Given the description of an element on the screen output the (x, y) to click on. 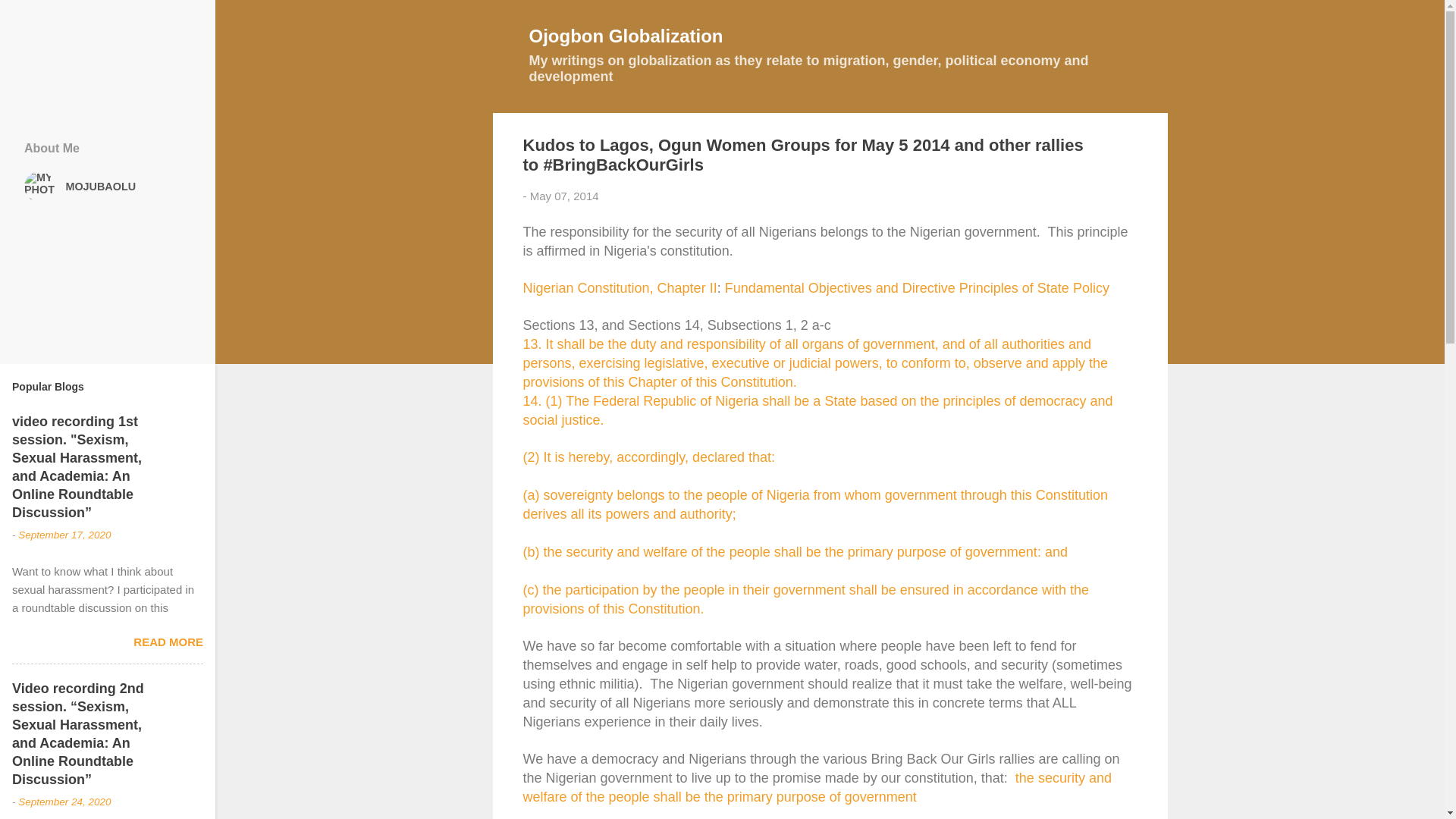
Ojogbon Globalization (626, 35)
May 07, 2014 (563, 195)
Nigerian Constitution, Chapter II (619, 287)
Search (29, 18)
permanent link (563, 195)
